Given the description of an element on the screen output the (x, y) to click on. 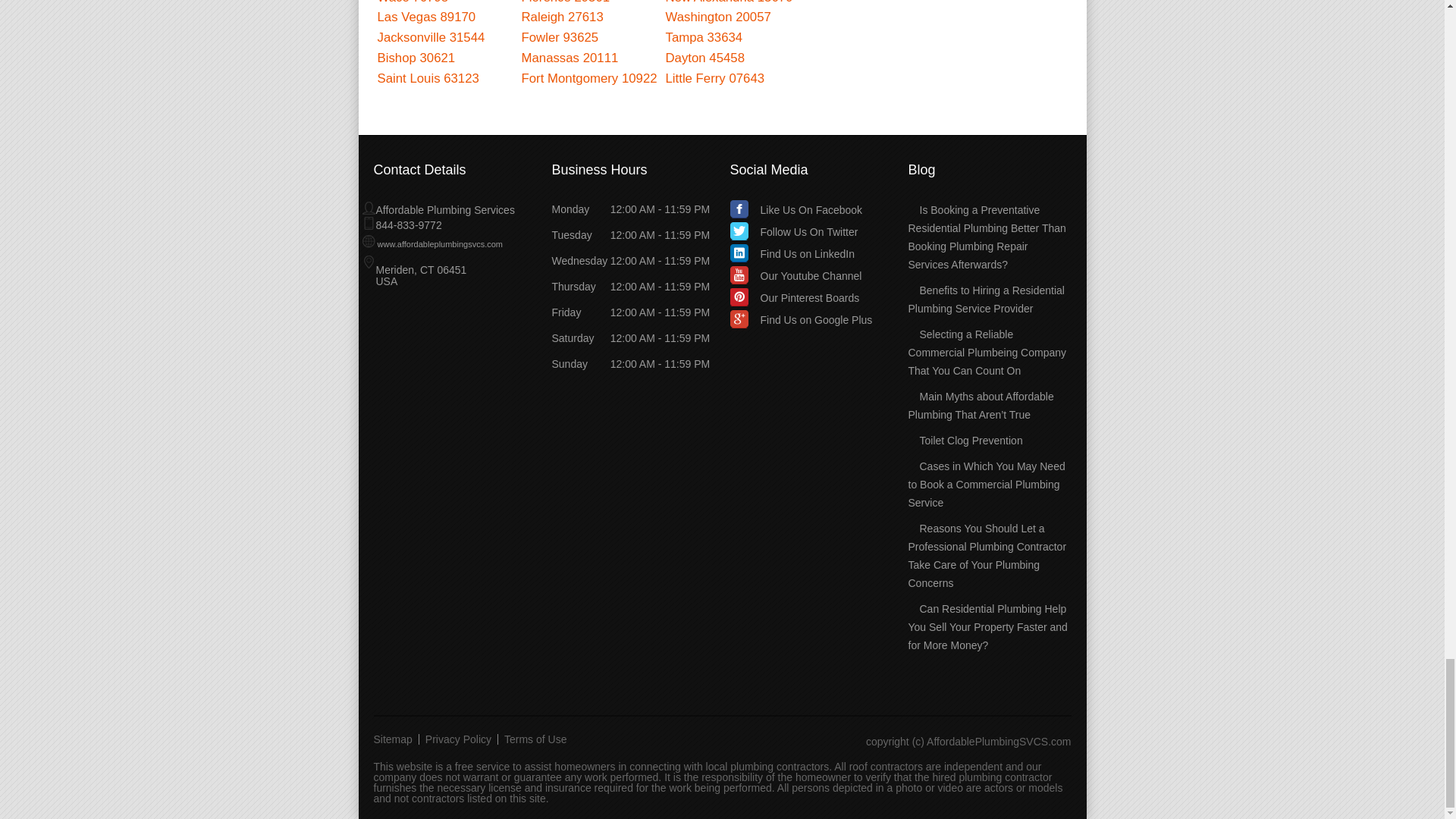
Las Vegas 89170 (426, 16)
Washington 20057 (718, 16)
New Alexandria 15670 (729, 2)
Waco 76798 (412, 2)
Raleigh 27613 (562, 16)
Florence 29501 (565, 2)
